Given the description of an element on the screen output the (x, y) to click on. 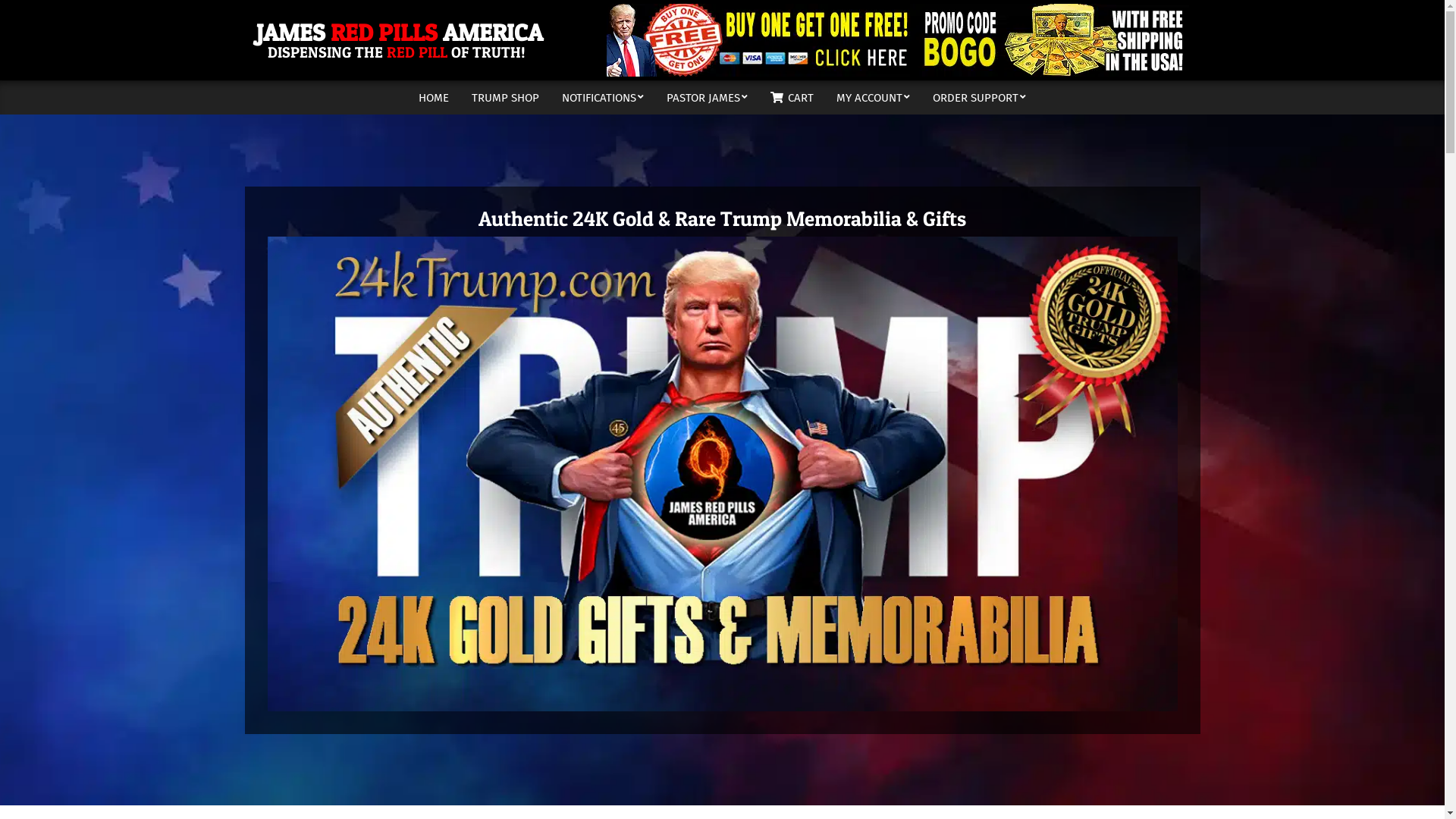
PASTOR JAMES Element type: text (707, 97)
MY ACCOUNT Element type: text (873, 97)
TRUMP SHOP Element type: text (505, 97)
ORDER SUPPORT Element type: text (979, 97)
CART Element type: text (792, 97)
HOME Element type: text (433, 97)
JAMES RED PILLS AMERICA
   DISPENSING THE RED PILL OF TRUTH! Element type: text (399, 40)
NOTIFICATIONS Element type: text (602, 97)
